Given the description of an element on the screen output the (x, y) to click on. 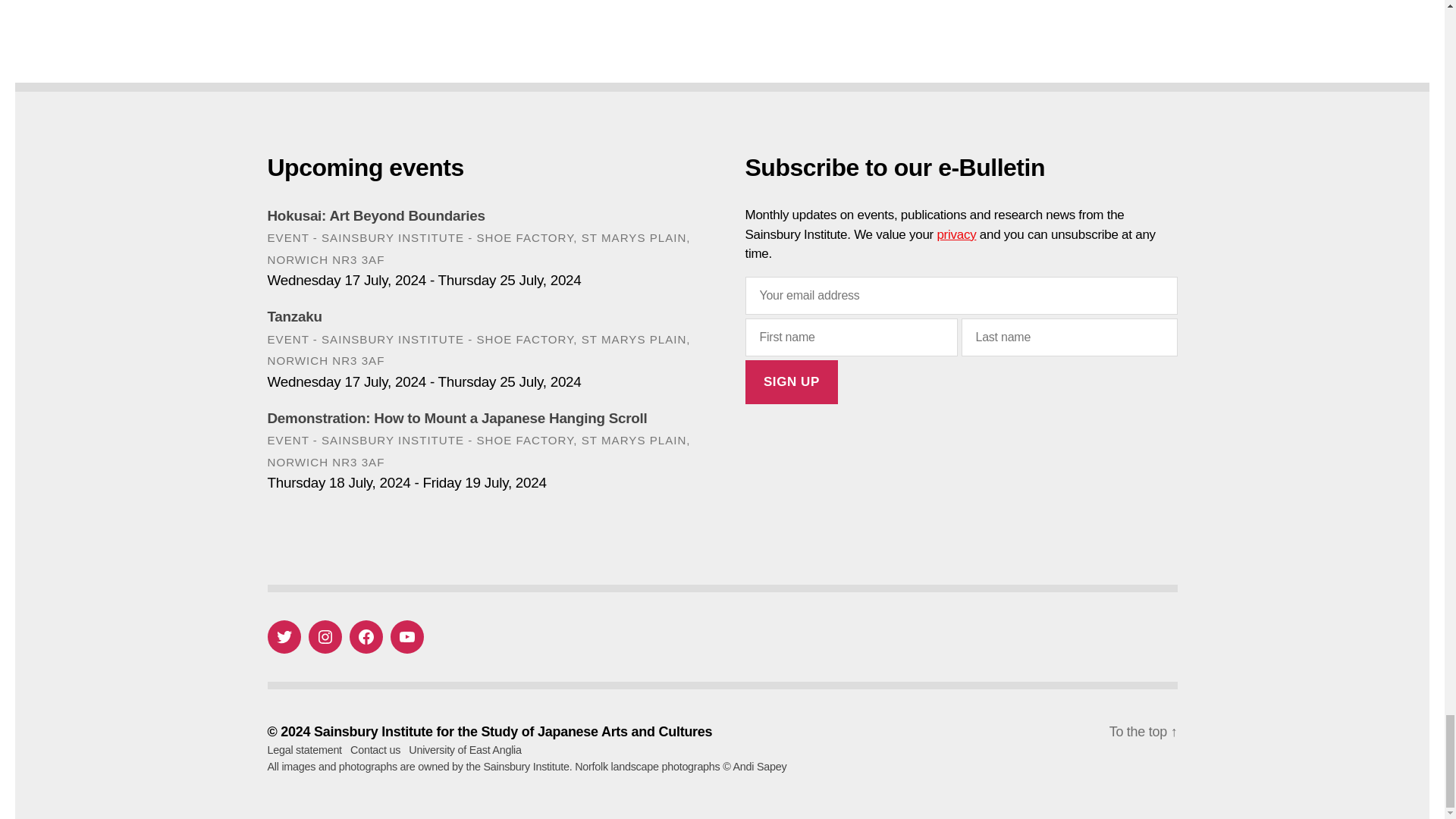
Sign up (791, 382)
